Given the description of an element on the screen output the (x, y) to click on. 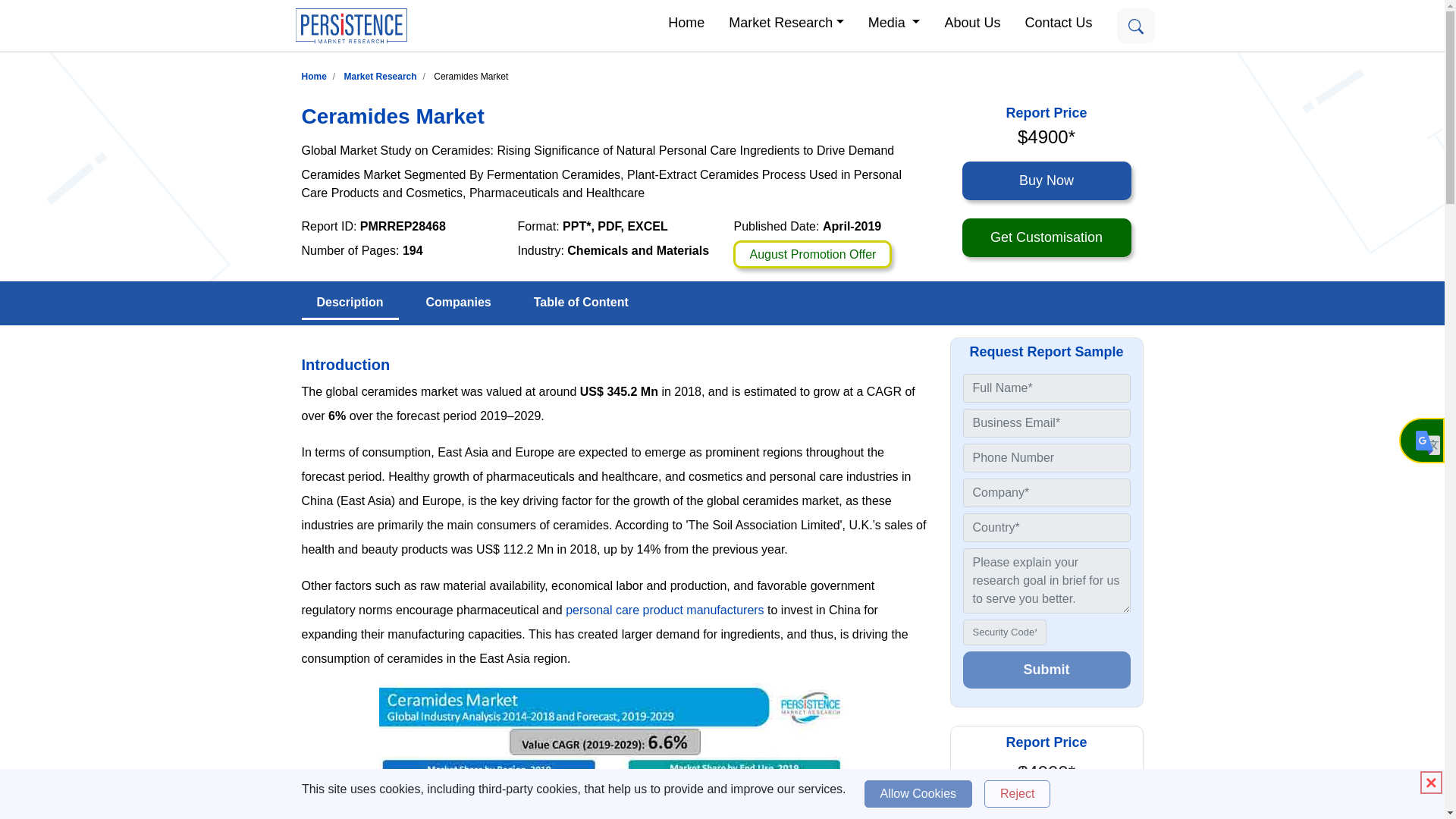
Market Research (786, 21)
Contact Us (1057, 21)
Search (1135, 25)
August Promotion Offer (812, 254)
Description (349, 303)
Contact Us (1057, 21)
Market Research (379, 76)
Home (686, 21)
Submit (1046, 669)
Persistence Market Report (313, 76)
